Given the description of an element on the screen output the (x, y) to click on. 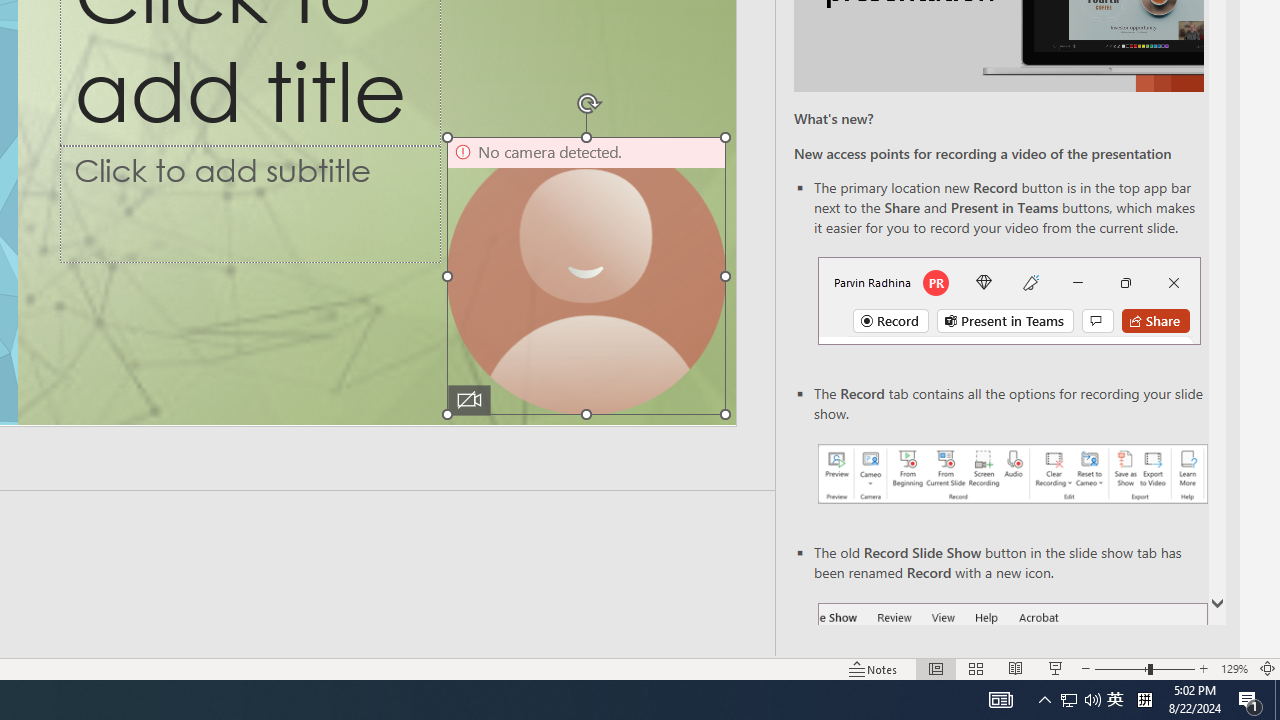
Record button in top bar (1008, 300)
Subtitle TextBox (250, 203)
Zoom 129% (1234, 668)
Record your presentations screenshot one (1012, 473)
Camera 9, No camera detected. (586, 275)
